Given the description of an element on the screen output the (x, y) to click on. 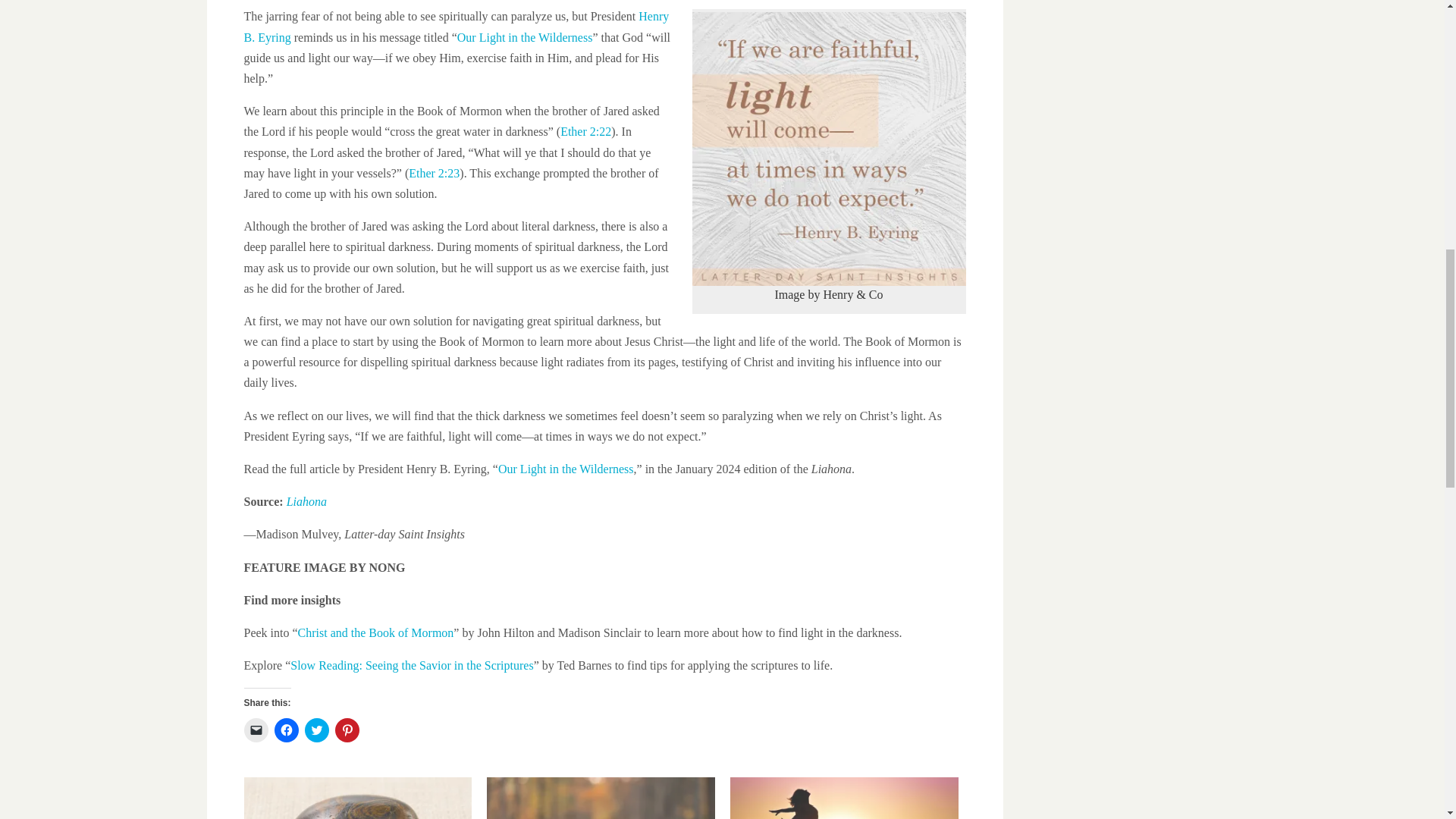
Turn to the Source of Truth (600, 798)
Henry B. Eyring (456, 26)
Click to share on Facebook (286, 730)
Click to email a link to a friend (255, 730)
Liahona (306, 501)
Ether 2:22 (585, 131)
Christ and the Book of Mormon (376, 632)
Ether 2:23 (434, 173)
Our Light in the Wilderness (565, 468)
Click to share on Twitter (316, 730)
Click to share on Pinterest (346, 730)
Slow Reading: Seeing the Savior in the Scriptures (410, 665)
Our Light in the Wilderness (524, 37)
